Given the description of an element on the screen output the (x, y) to click on. 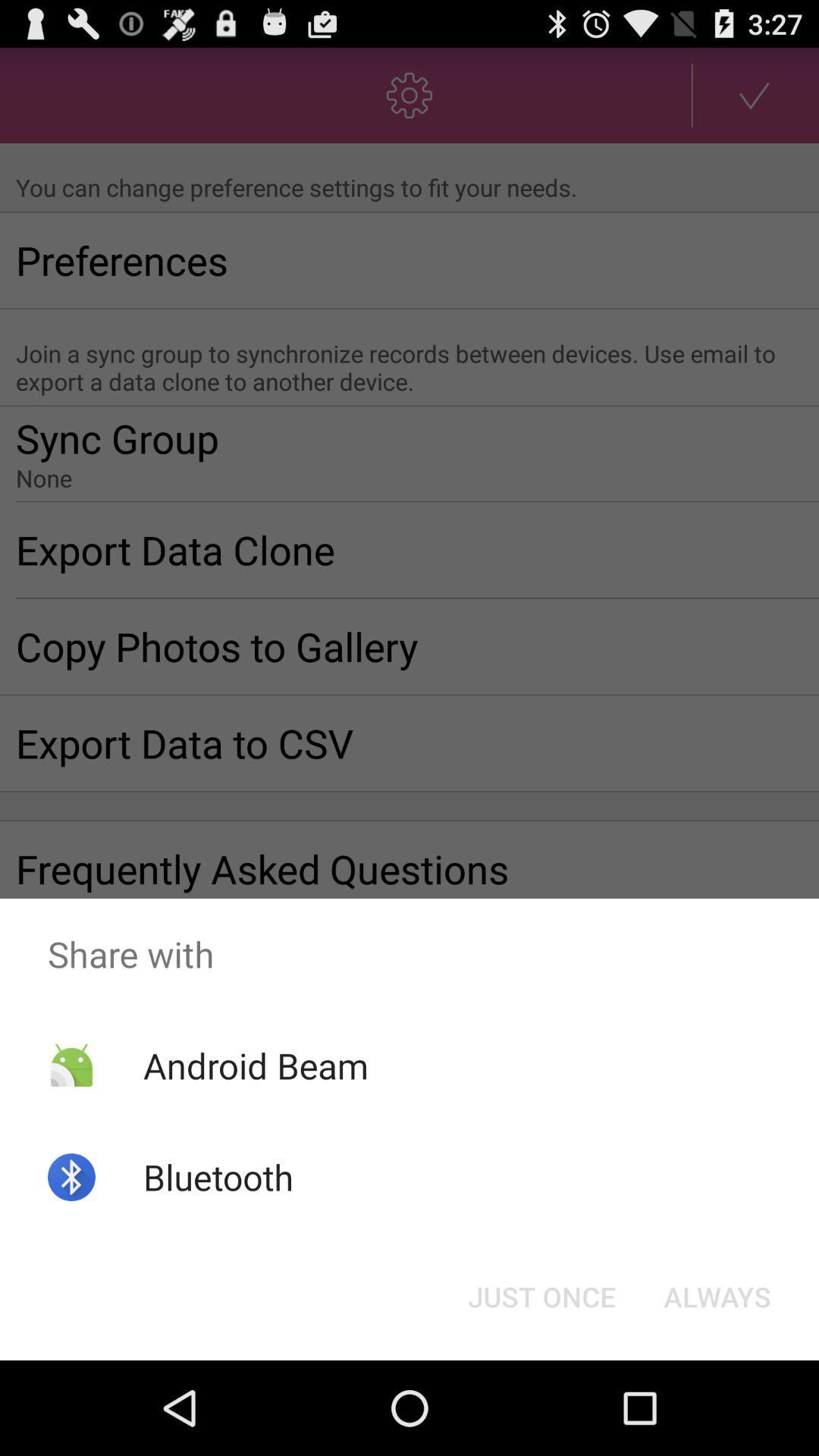
choose just once item (541, 1296)
